Given the description of an element on the screen output the (x, y) to click on. 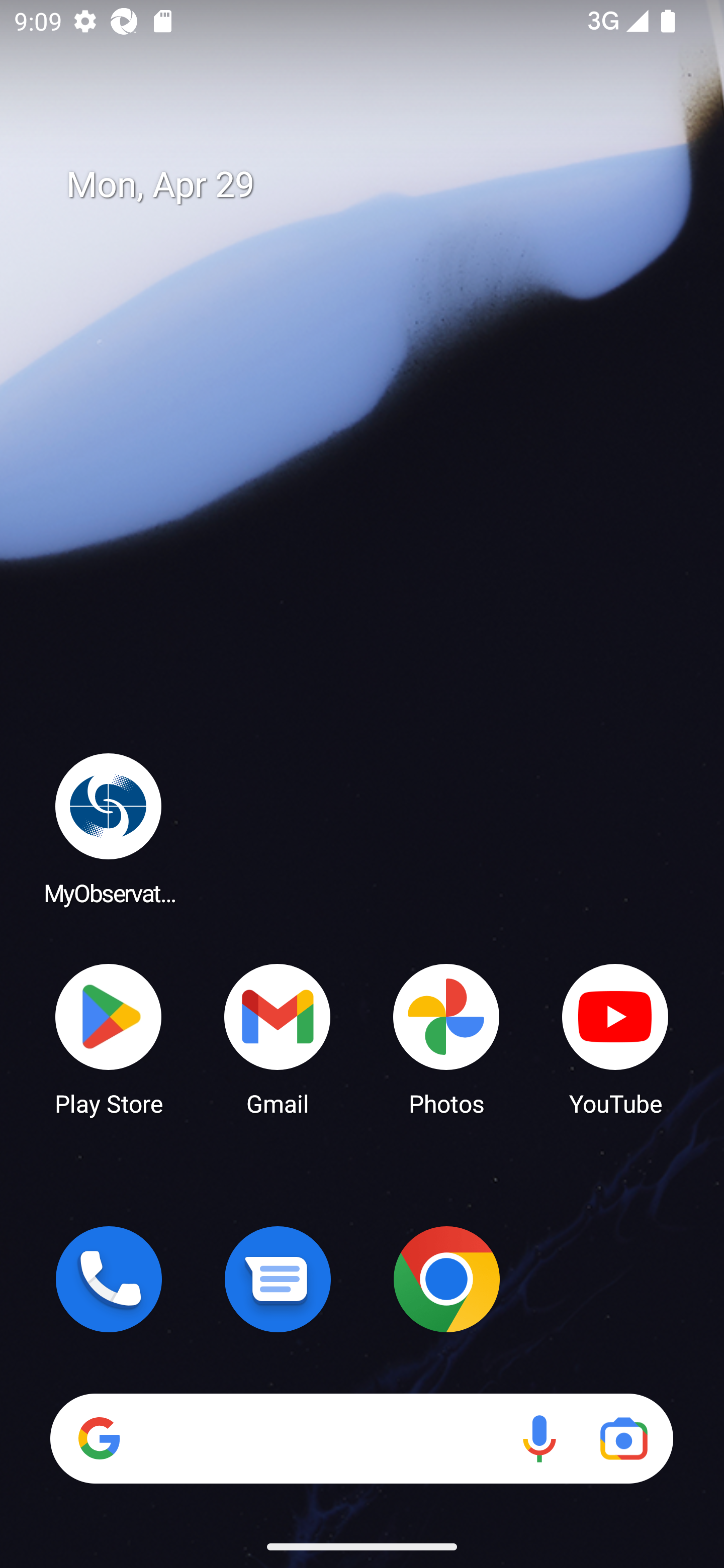
Mon, Apr 29 (375, 184)
MyObservatory (108, 828)
Play Store (108, 1038)
Gmail (277, 1038)
Photos (445, 1038)
YouTube (615, 1038)
Phone (108, 1279)
Messages (277, 1279)
Chrome (446, 1279)
Voice search (539, 1438)
Google Lens (623, 1438)
